Given the description of an element on the screen output the (x, y) to click on. 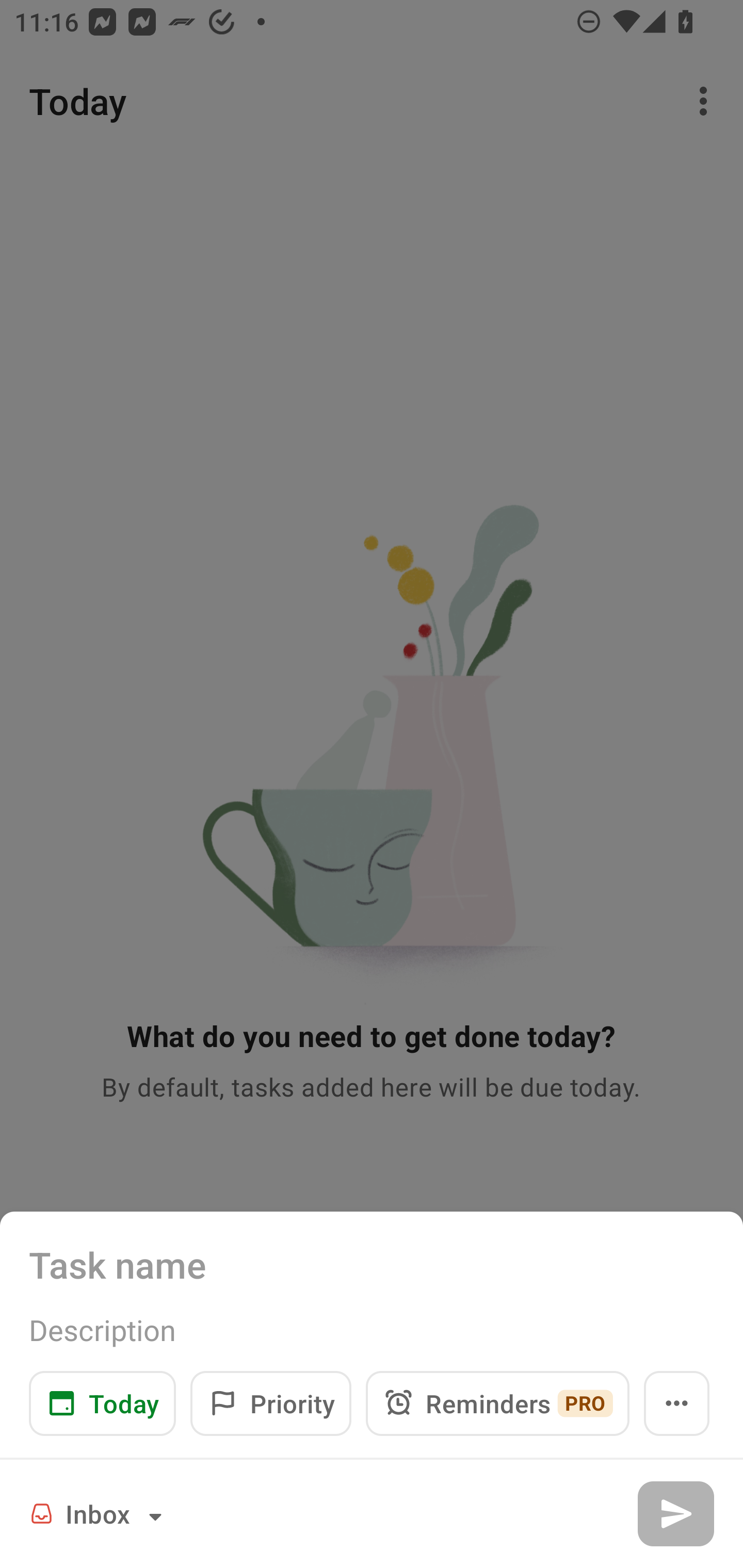
Task name (371, 1264)
Description (371, 1330)
Today Date (102, 1403)
Priority (270, 1403)
Reminders PRO Reminders (497, 1403)
Open menu (676, 1403)
Inbox Project (99, 1513)
Add (675, 1513)
